Given the description of an element on the screen output the (x, y) to click on. 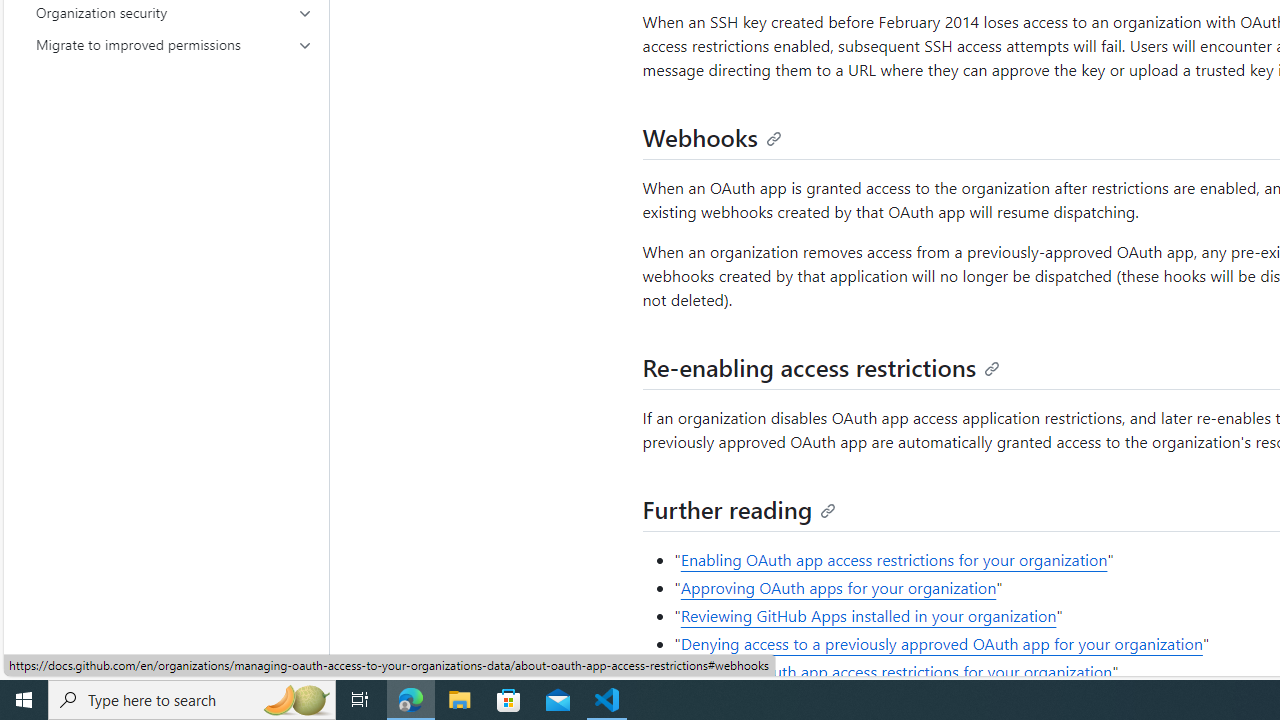
Approving OAuth apps for your organization (838, 587)
Migrate to improved permissions (174, 44)
Enabling OAuth app access restrictions for your organization (893, 559)
Webhooks (712, 136)
Migrate to improved permissions (174, 44)
Reviewing GitHub Apps installed in your organization (868, 615)
Further reading (739, 507)
Re-enabling access restrictions (821, 366)
